Given the description of an element on the screen output the (x, y) to click on. 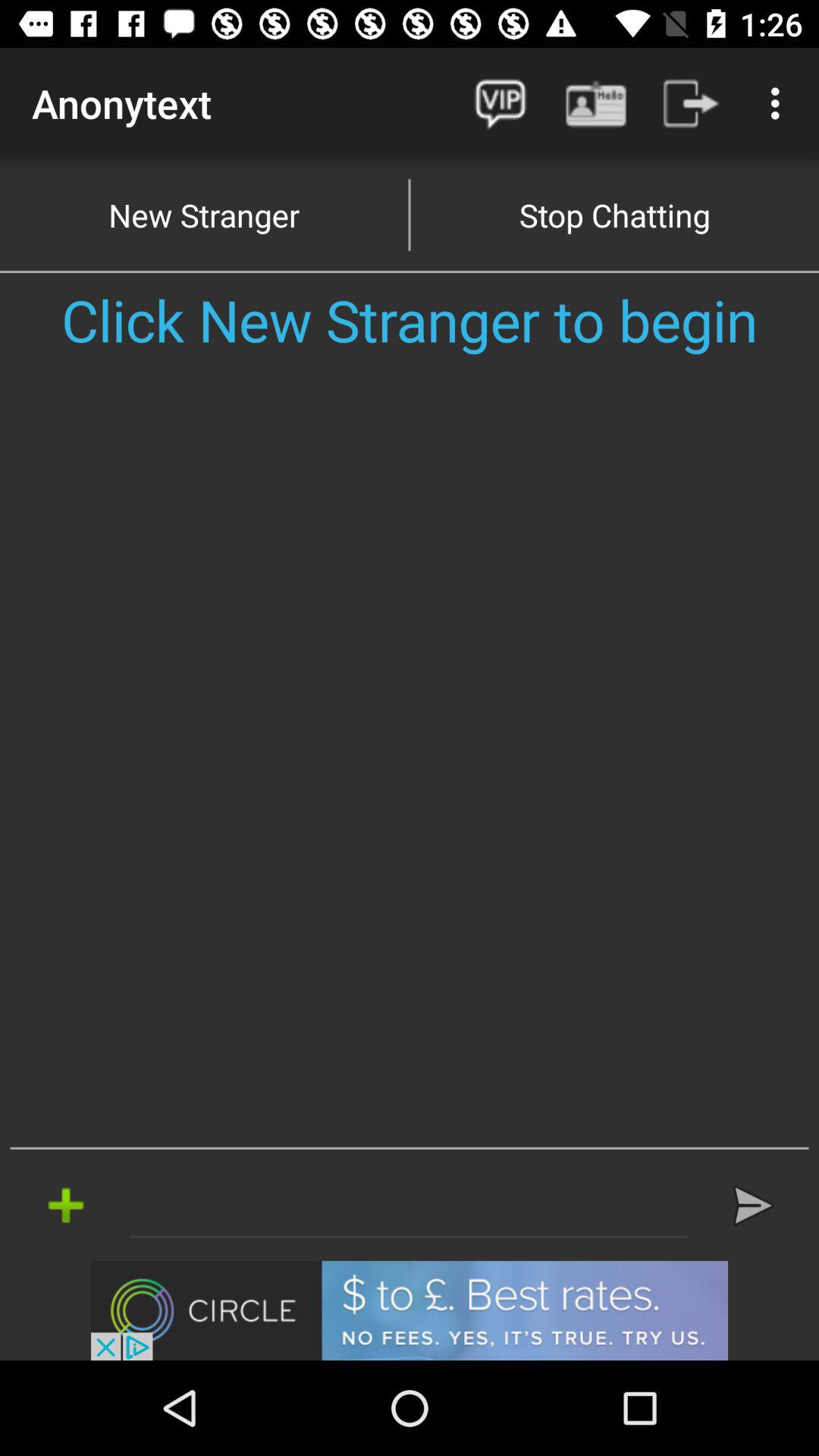
alerta para pagina (409, 1204)
